Given the description of an element on the screen output the (x, y) to click on. 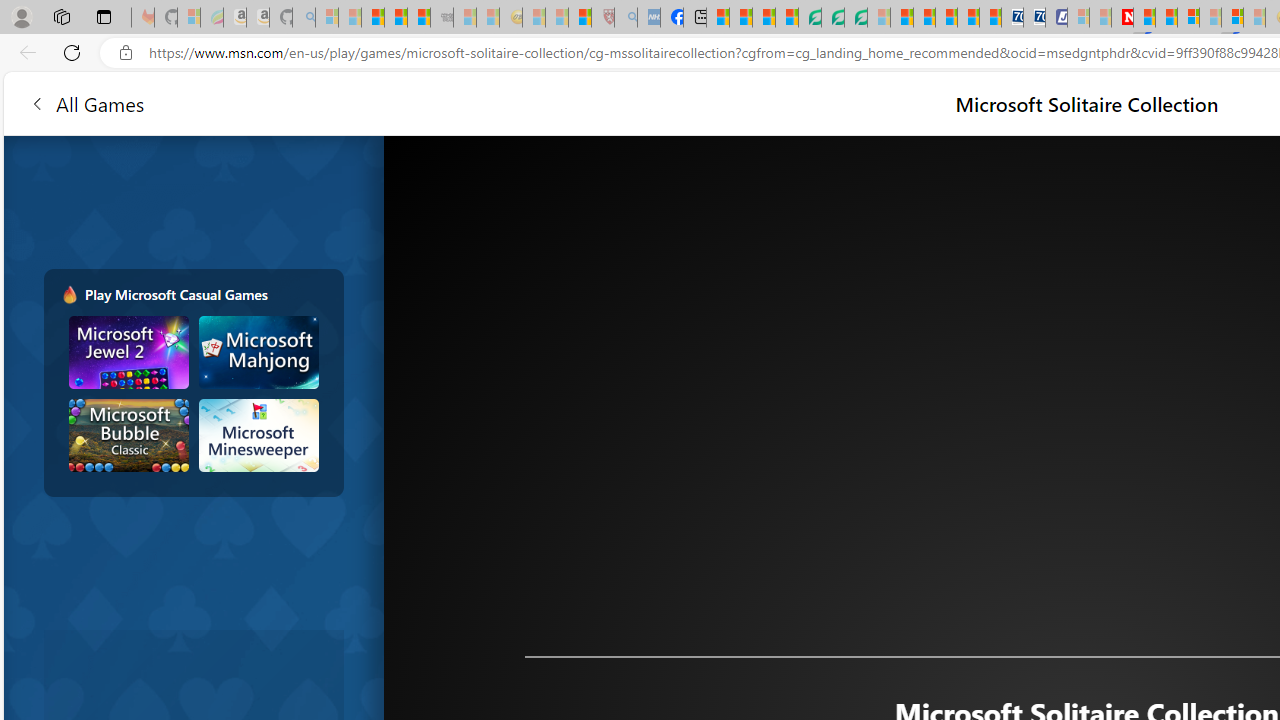
New Report Confirms 2023 Was Record Hot | Watch (419, 17)
Microsoft Word - consumer-privacy address update 2.2021 (855, 17)
Microsoft Mahjong (258, 352)
The Weather Channel - MSN (372, 17)
Microsoft Mahjong (258, 352)
Microsoft Jewel 2 (129, 352)
